Given the description of an element on the screen output the (x, y) to click on. 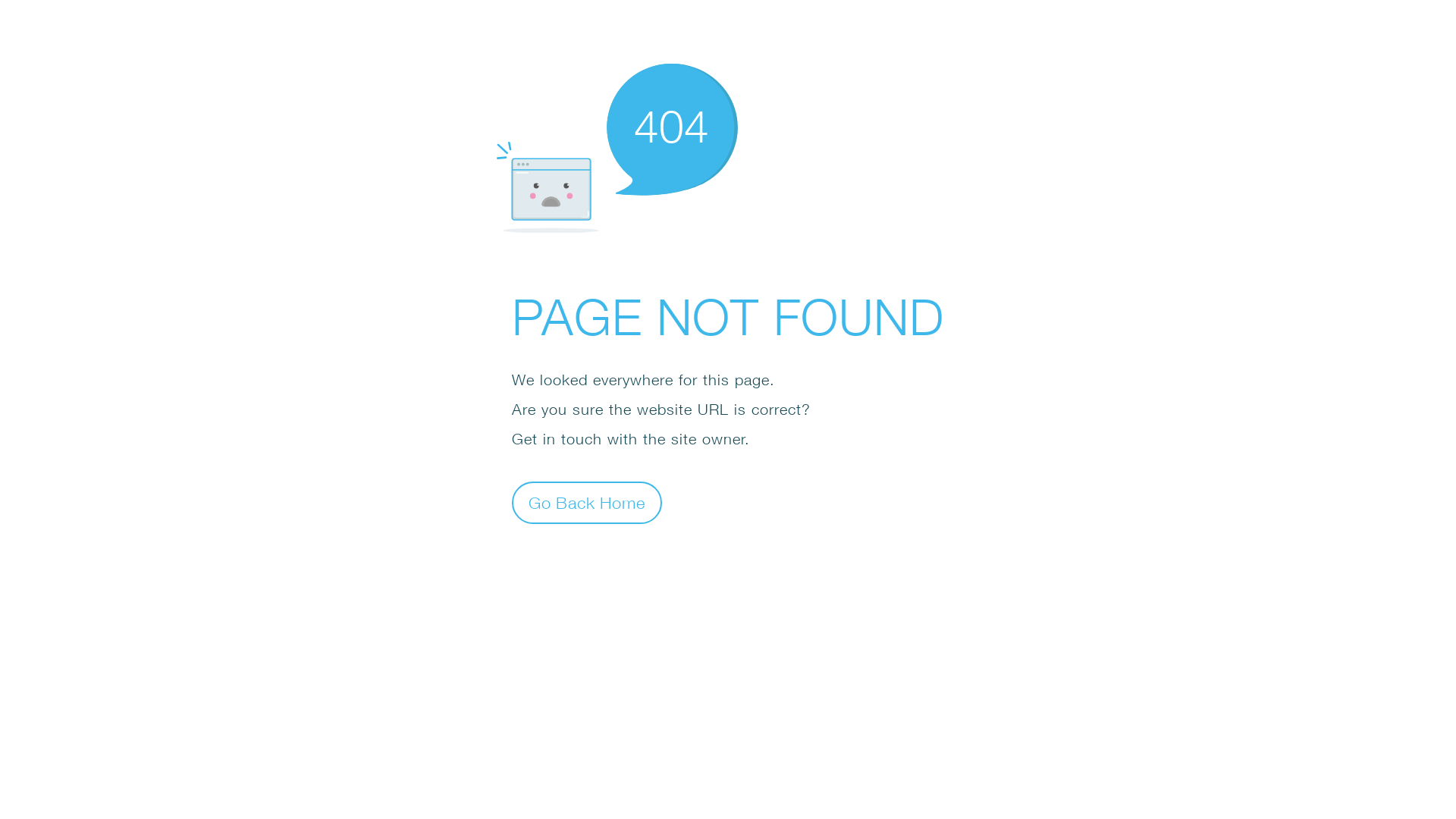
Go Back Home Element type: text (586, 502)
